Given the description of an element on the screen output the (x, y) to click on. 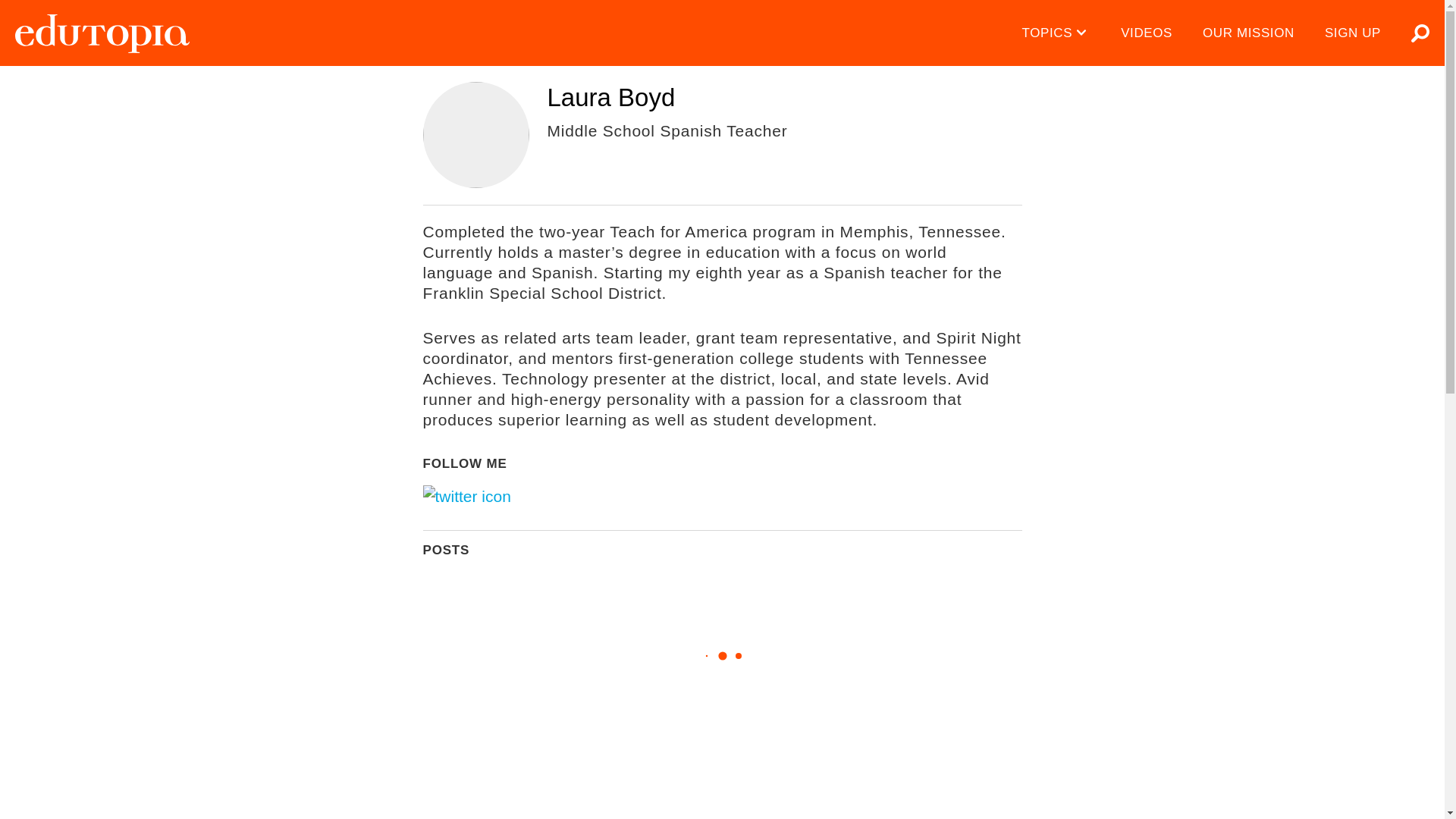
SIGN UP (1352, 33)
OUR MISSION (1248, 33)
Edutopia (101, 33)
Edutopia (101, 33)
VIDEOS (1146, 33)
TOPICS (1056, 33)
